Given the description of an element on the screen output the (x, y) to click on. 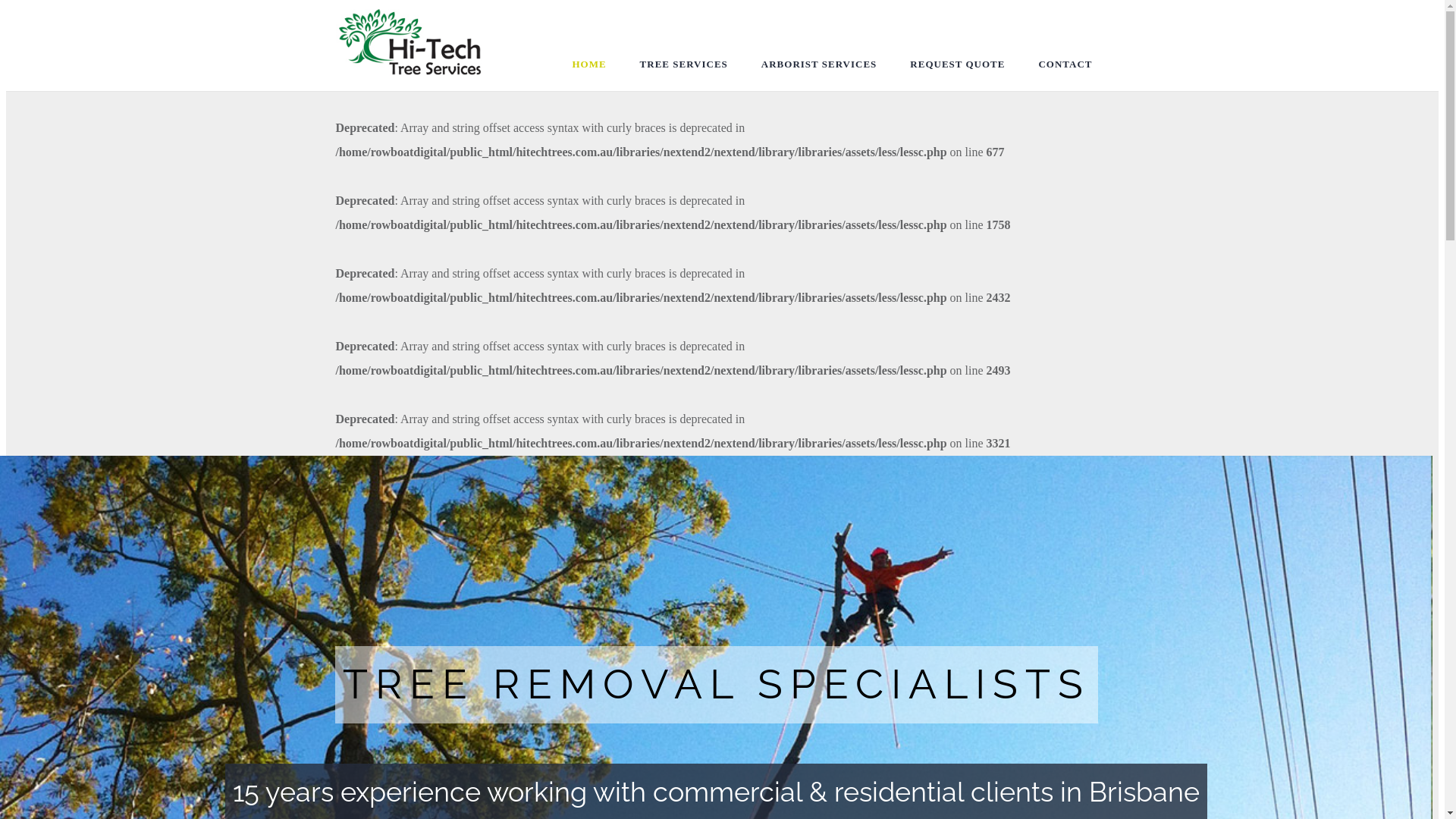
REQUEST QUOTE Element type: text (957, 63)
ARBORIST SERVICES Element type: text (819, 63)
TREE SERVICES Element type: text (683, 63)
CONTACT Element type: text (1064, 63)
HOME Element type: text (588, 63)
